Given the description of an element on the screen output the (x, y) to click on. 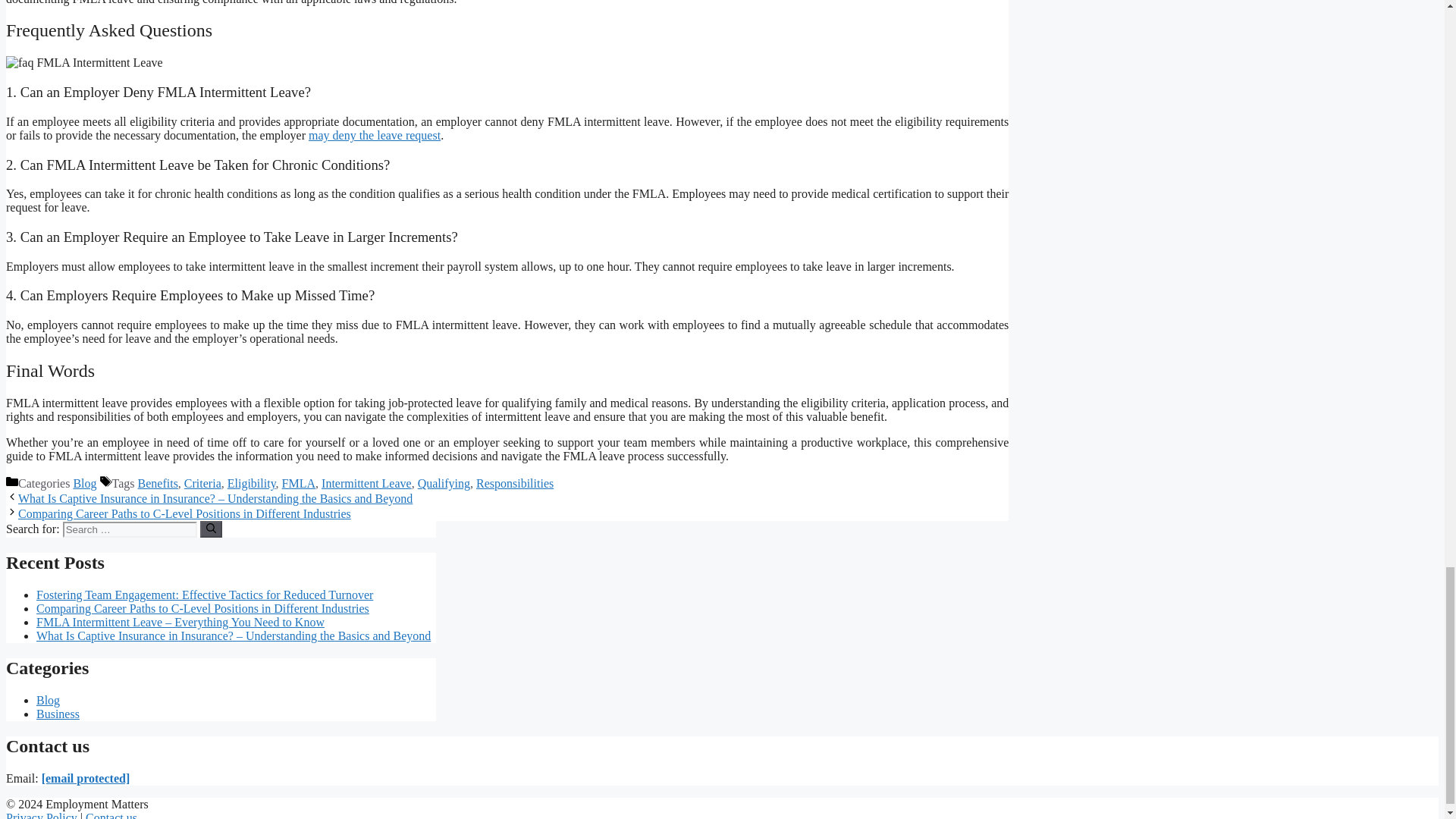
Benefits (157, 482)
Intermittent Leave (366, 482)
FMLA (298, 482)
may deny the leave request (374, 134)
Business (58, 713)
Blog (84, 482)
Search for: (129, 529)
Blog (47, 699)
Criteria (202, 482)
Qualifying (443, 482)
Responsibilities (514, 482)
Eligibility (251, 482)
